Given the description of an element on the screen output the (x, y) to click on. 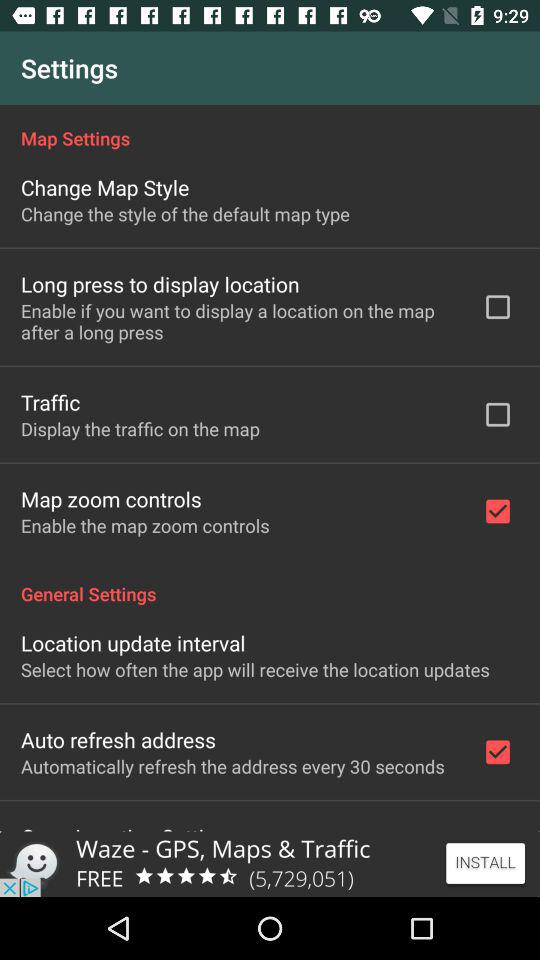
install the waze app (270, 864)
